Given the description of an element on the screen output the (x, y) to click on. 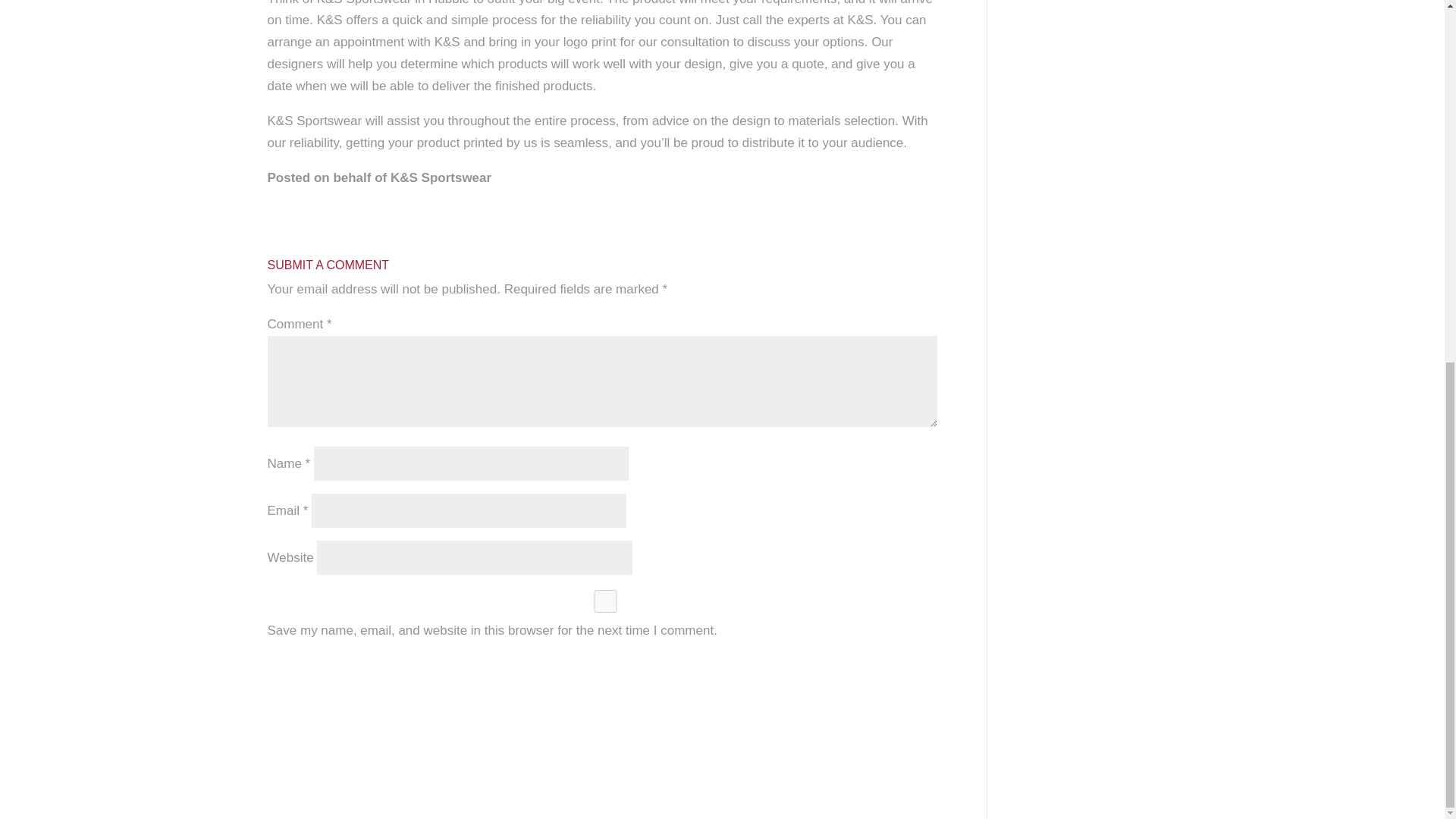
Submit Comment (606, 670)
yes (604, 600)
Submit Comment (606, 670)
